Given the description of an element on the screen output the (x, y) to click on. 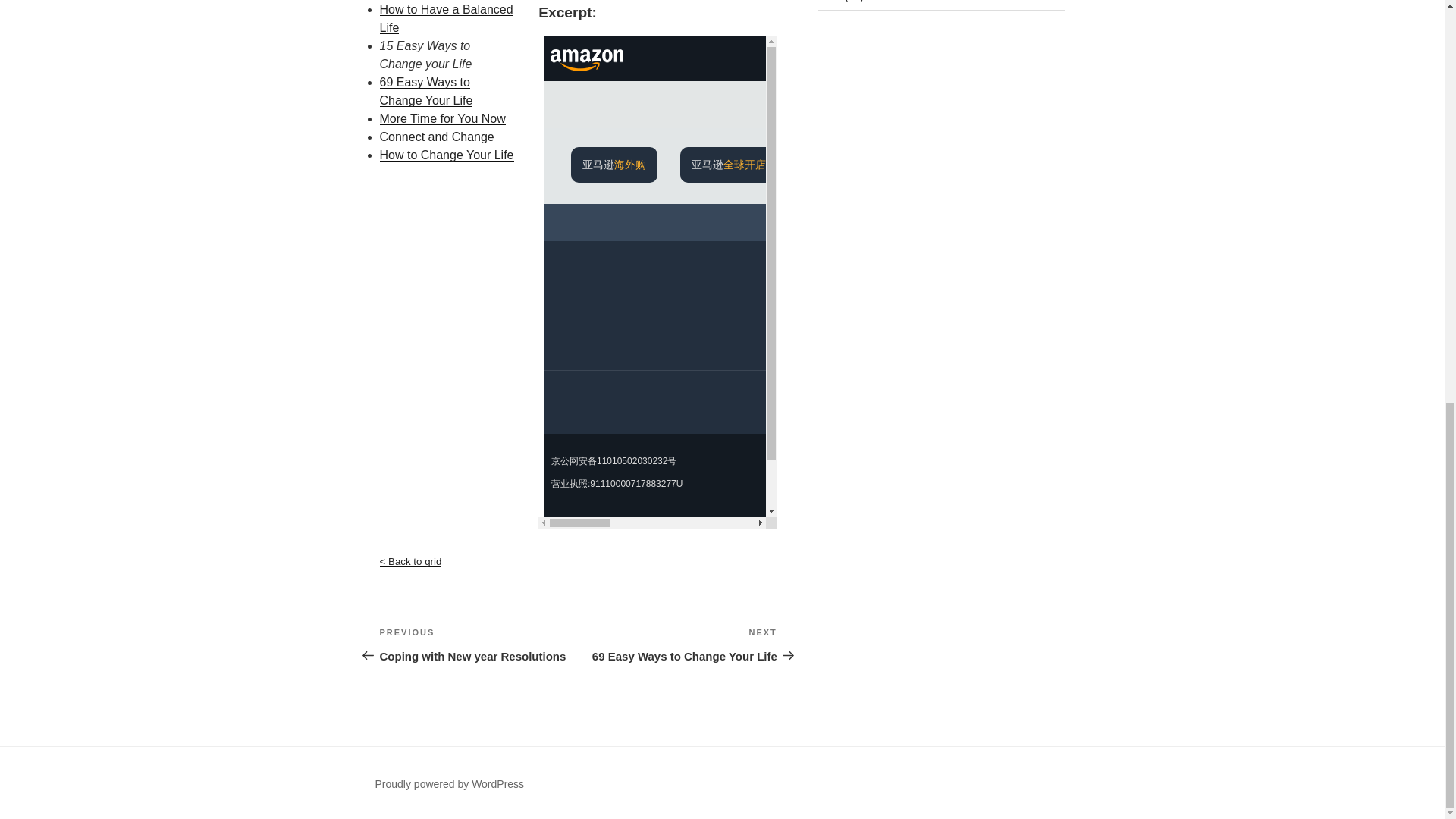
More Time for You Now (677, 644)
Connect and Change (441, 118)
69 Easy Ways to Change Your Life (435, 136)
How to Have a Balanced Life (424, 91)
How to Change Your Life (445, 18)
